Given the description of an element on the screen output the (x, y) to click on. 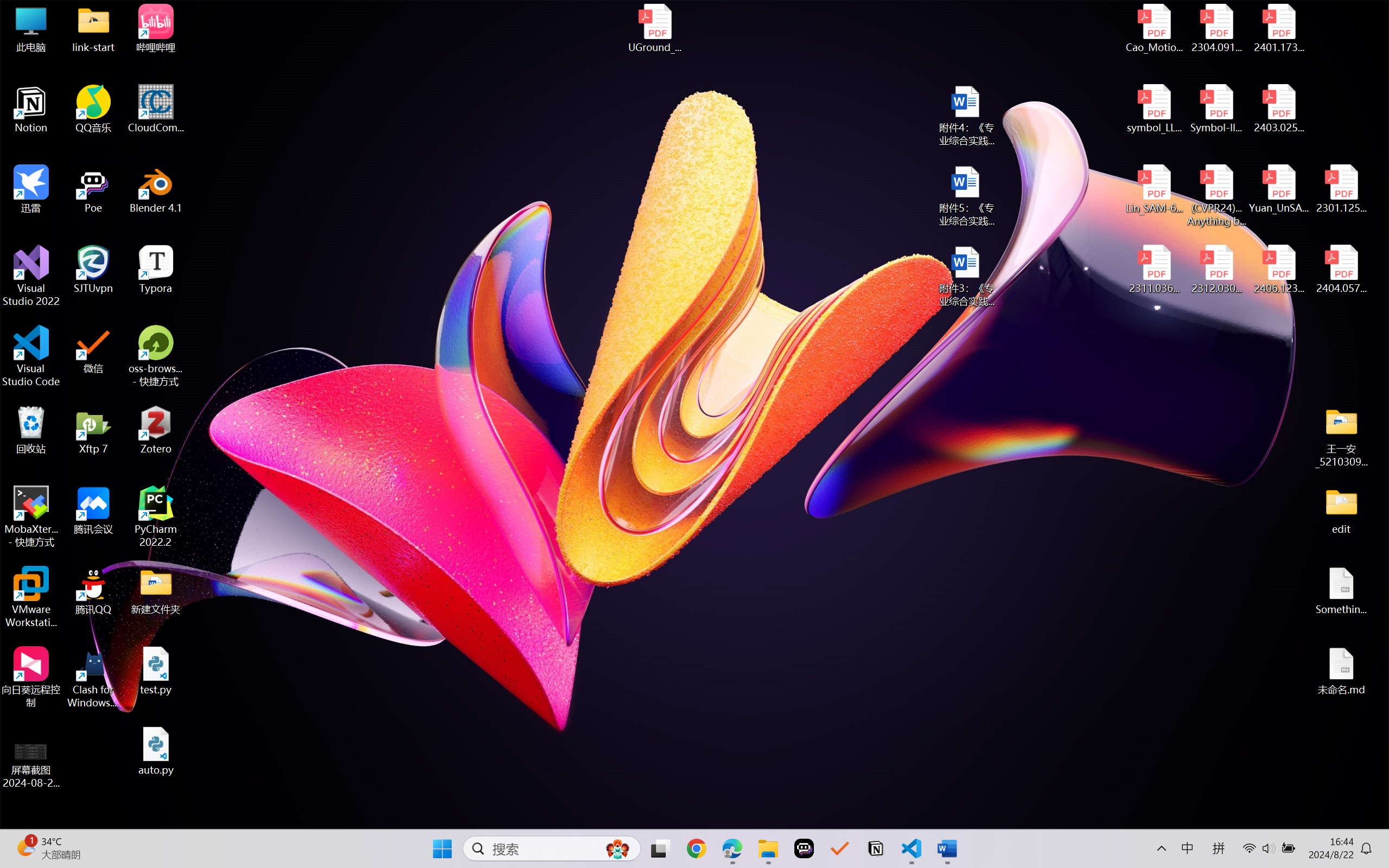
symbol_LLM.pdf (1154, 109)
VMware Workstation Pro (31, 597)
auto.py (156, 751)
test.py (156, 670)
2404.05719v1.pdf (1340, 269)
edit (1340, 510)
2311.03658v2.pdf (1154, 269)
Something.md (1340, 591)
